Given the description of an element on the screen output the (x, y) to click on. 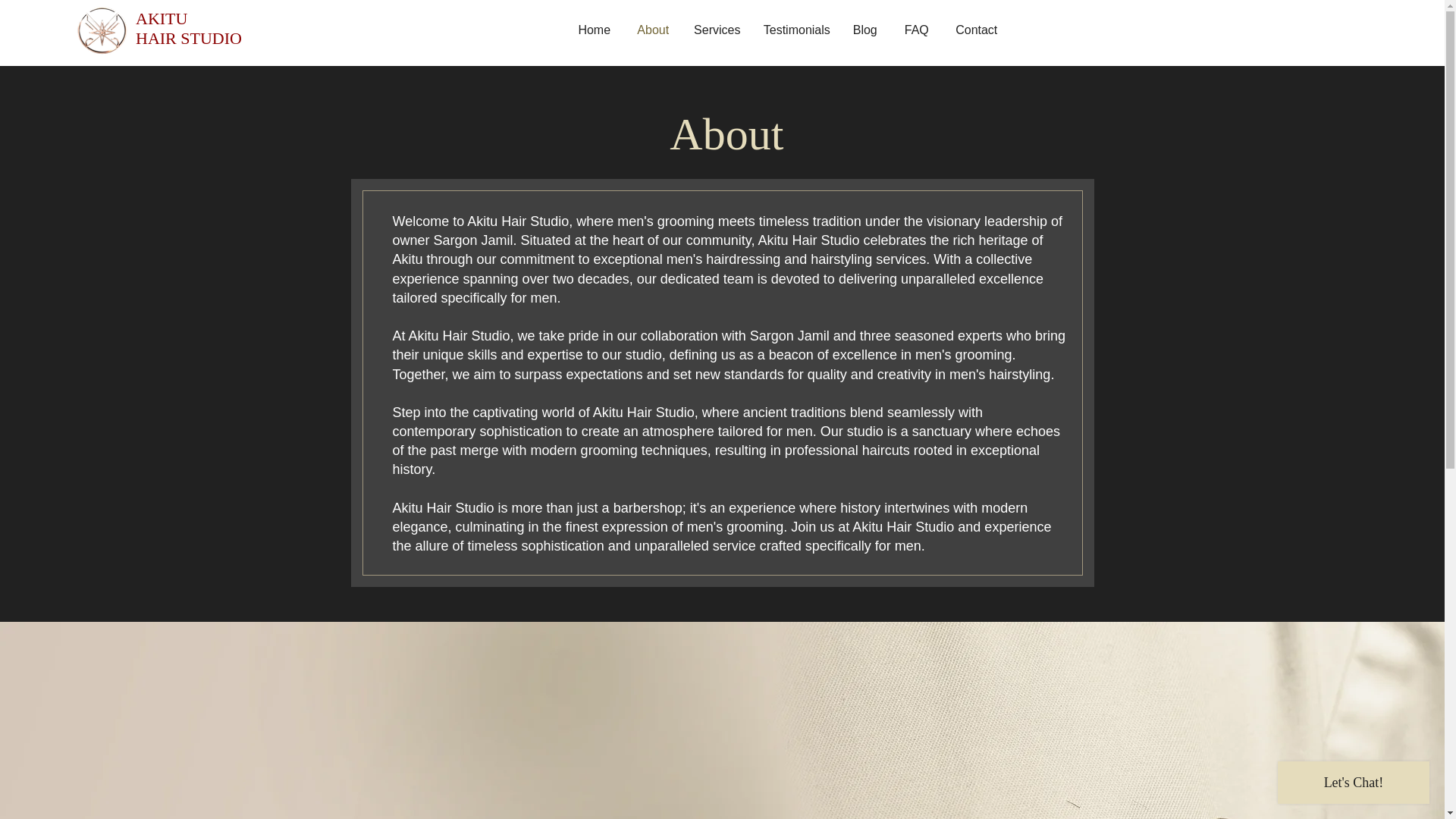
HAIR STUDIO (188, 37)
Home (594, 30)
About (653, 30)
FAQ (916, 30)
AKITU (161, 18)
Services (717, 30)
Testimonials (796, 30)
Blog (865, 30)
Contact (976, 30)
